Given the description of an element on the screen output the (x, y) to click on. 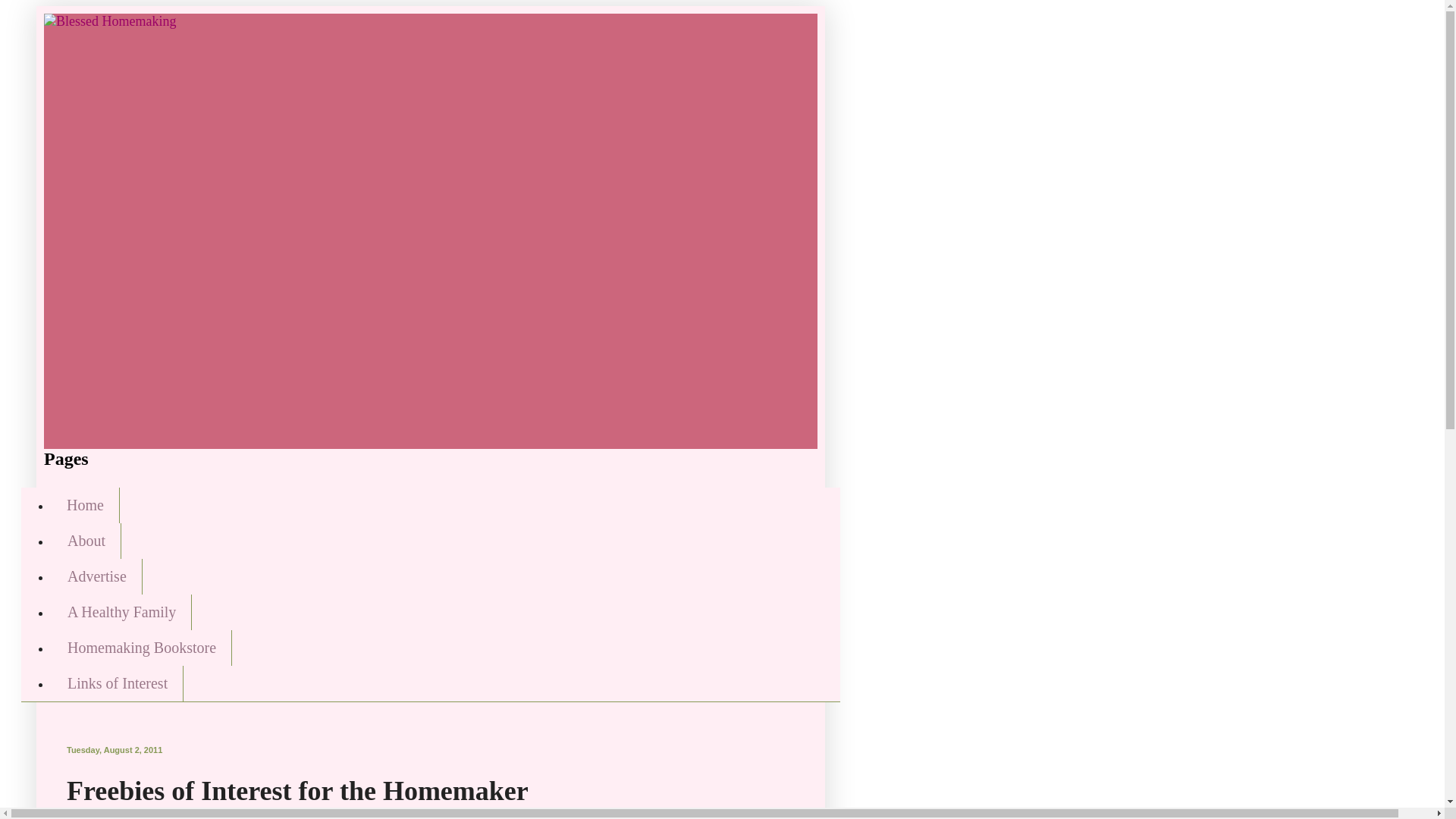
A Healthy Family (121, 611)
Home (84, 505)
Links of Interest (116, 683)
About (85, 540)
Homemaking Bookstore (140, 647)
Advertise (96, 576)
